Given the description of an element on the screen output the (x, y) to click on. 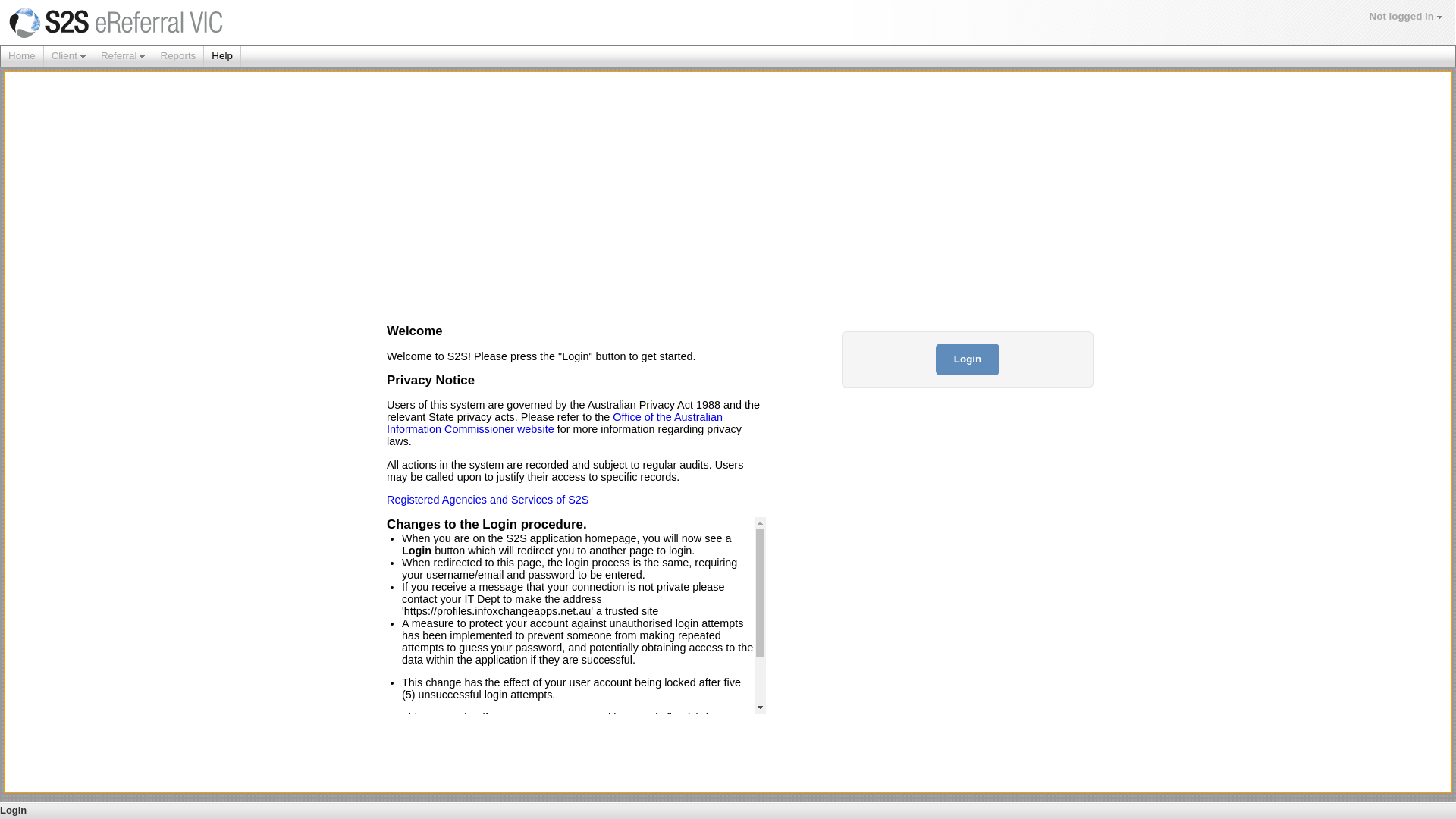
Referral Element type: text (122, 56)
Login Element type: text (967, 359)
Client Element type: text (67, 56)
Home Element type: text (21, 56)
eReferral VIC Element type: hover (214, 22)
Help Element type: text (221, 56)
Reports Element type: text (177, 56)
Office of the Australian Information Commissioner website Element type: text (554, 423)
Not logged in Element type: text (1405, 17)
Registered Agencies and Services of S2S Element type: text (487, 499)
